Given the description of an element on the screen output the (x, y) to click on. 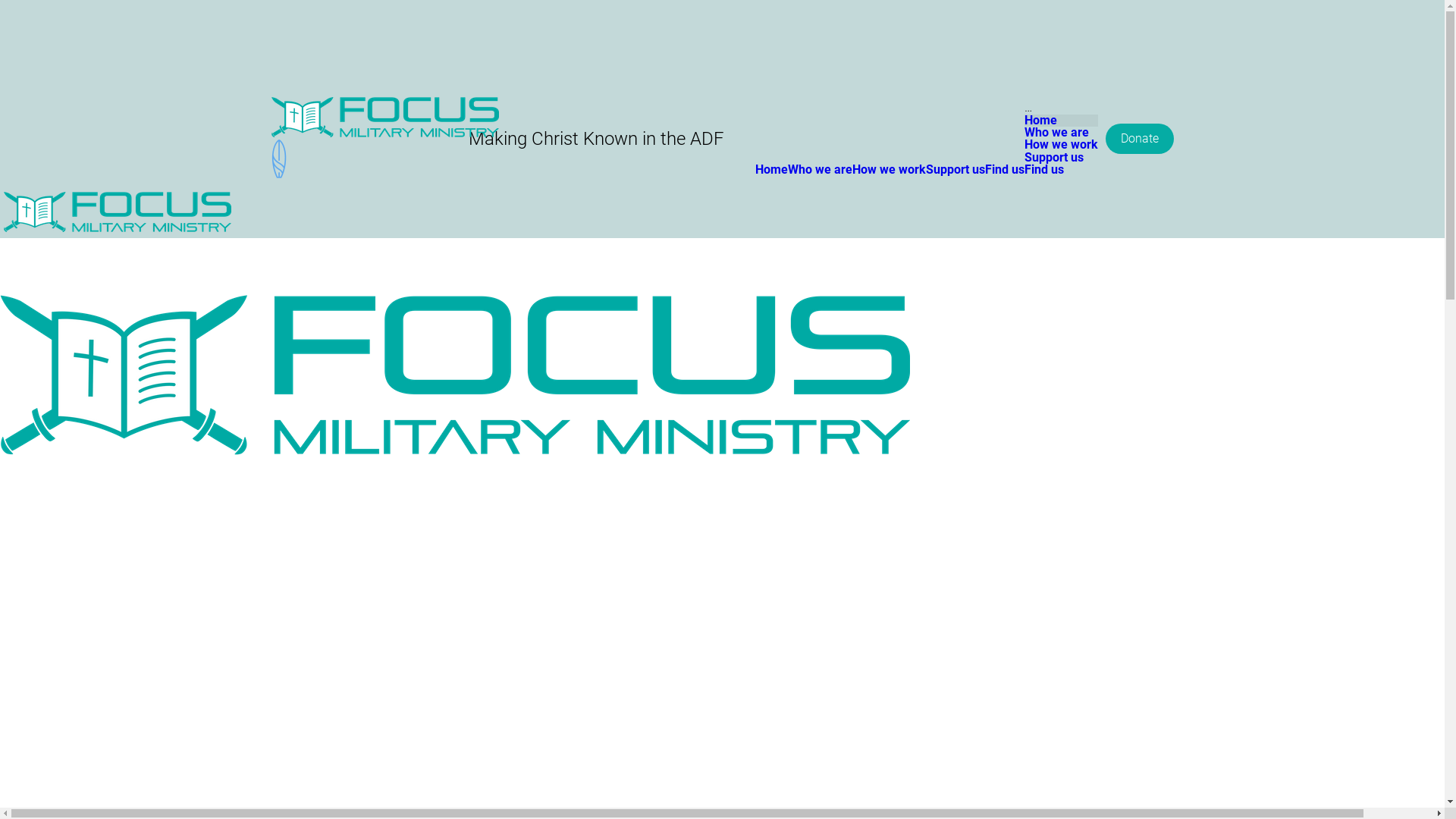
Who we are Element type: text (1055, 132)
Find us Element type: text (1003, 169)
Home Element type: text (771, 169)
Home Element type: text (1039, 119)
Support us Element type: text (1052, 157)
Support us Element type: text (954, 169)
Who we are Element type: text (819, 169)
Donate Element type: text (1139, 138)
How we work Element type: text (1060, 144)
How we work Element type: text (888, 169)
Find us Element type: text (1043, 169)
